Given the description of an element on the screen output the (x, y) to click on. 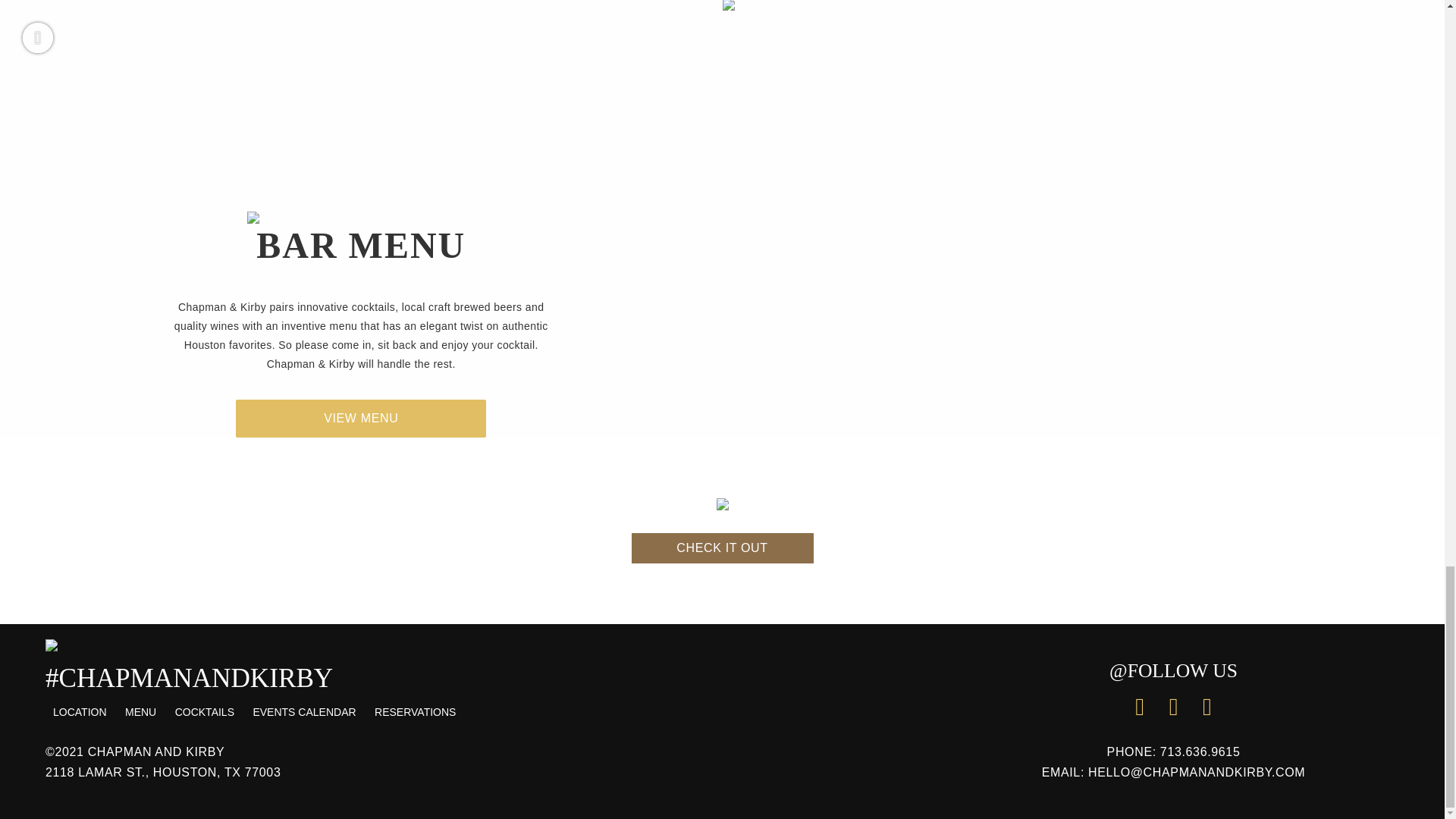
VIEW MENU (360, 418)
COCKTAILS (204, 711)
CHECK IT OUT (721, 548)
MENU (140, 711)
RESERVATIONS (414, 711)
EVENTS CALENDAR (303, 711)
LOCATION (80, 711)
PHONE: 713.636.9615 (1173, 754)
